Given the description of an element on the screen output the (x, y) to click on. 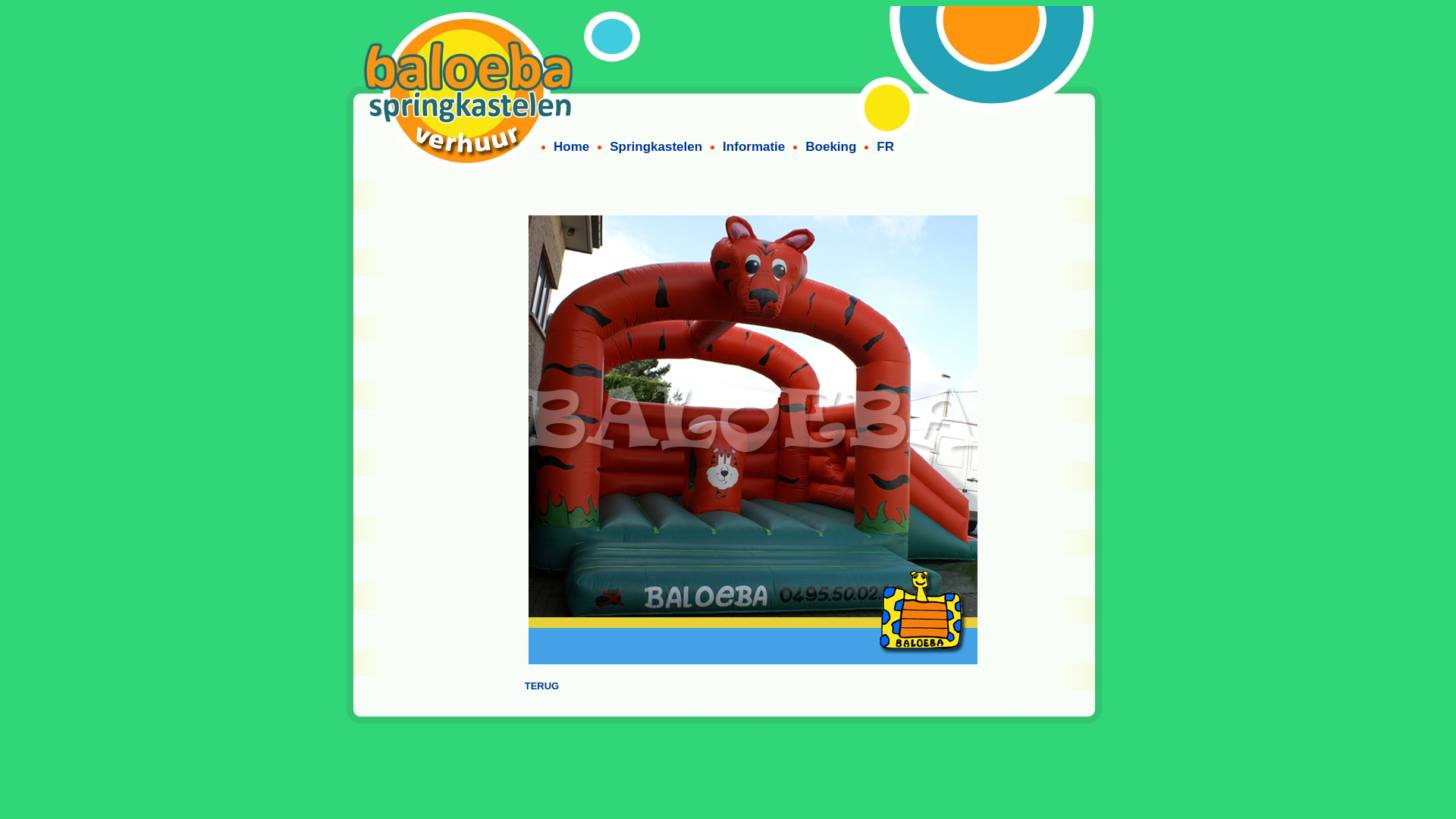
FR Element type: text (885, 146)
Home Element type: text (571, 146)
Informatie Element type: text (753, 146)
Boeking Element type: text (830, 146)
TERUG Element type: text (541, 684)
Springkastelen Element type: text (655, 146)
